Given the description of an element on the screen output the (x, y) to click on. 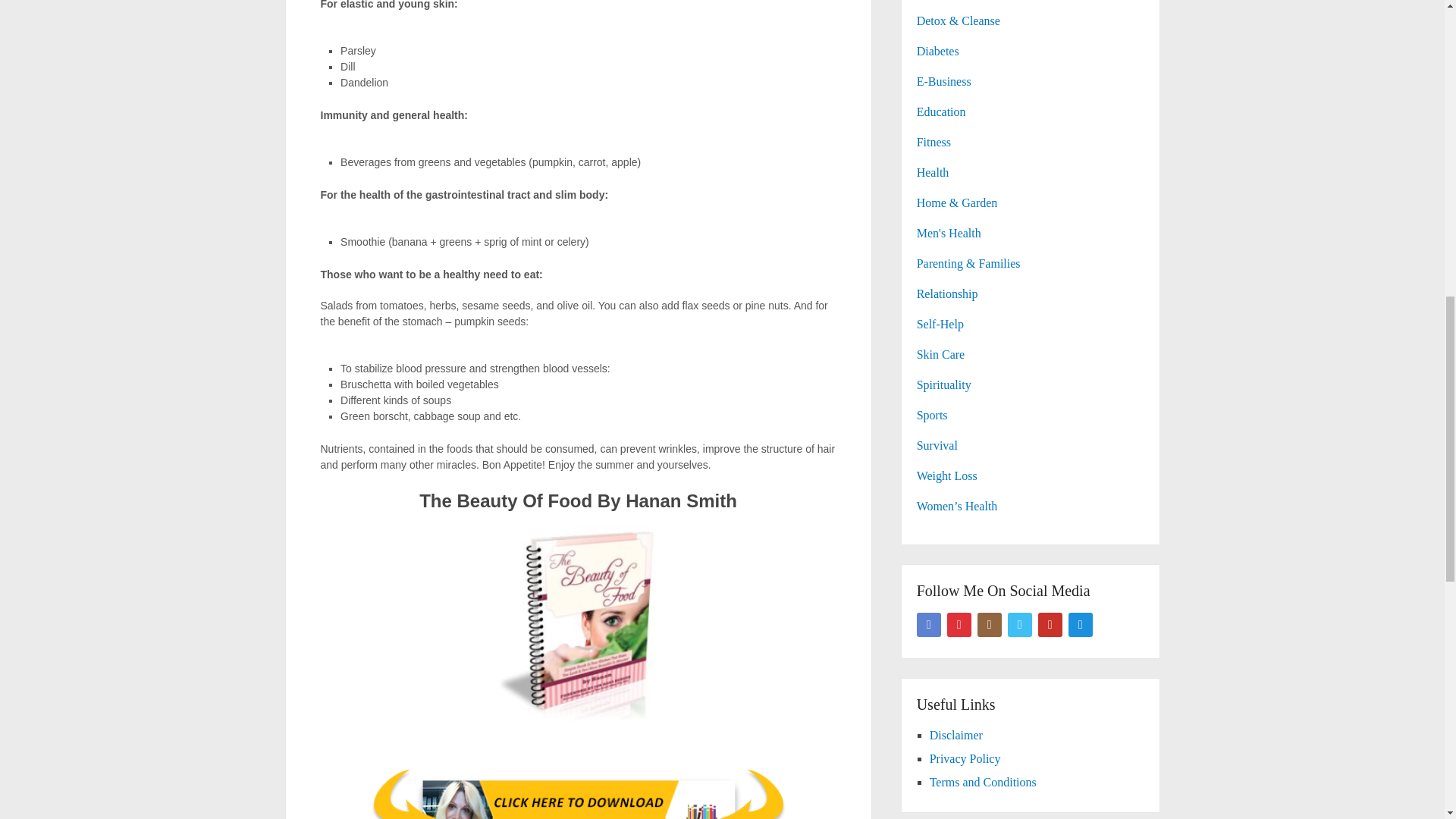
Fitness (933, 141)
E-Business (944, 81)
Health (933, 172)
Men's Health (949, 232)
Diabetes (938, 51)
Education (941, 111)
